Given the description of an element on the screen output the (x, y) to click on. 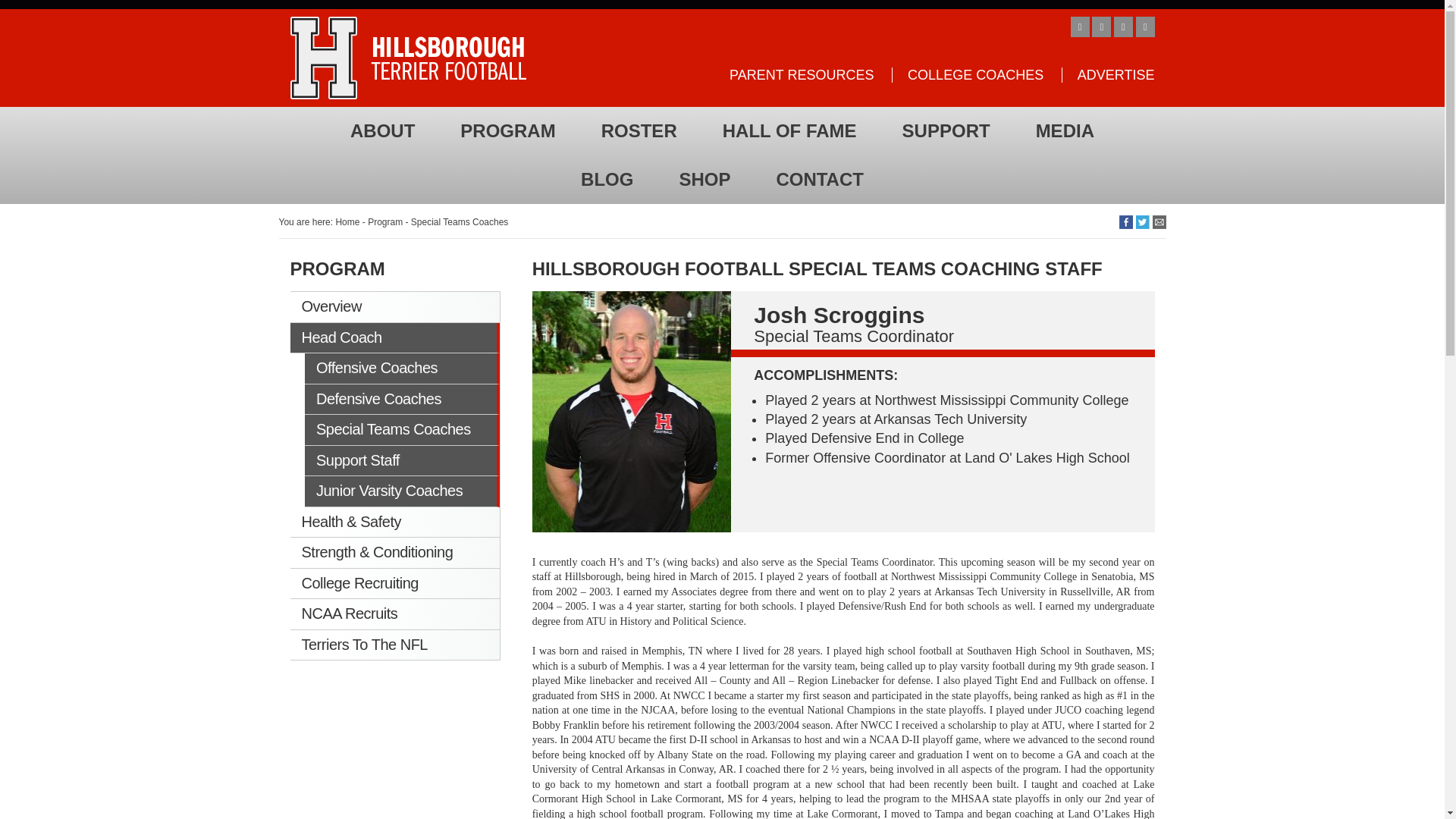
Overview (394, 306)
Offensive Coaches (401, 368)
You are here: Home (319, 222)
ABOUT (382, 131)
COLLEGE COACHES (967, 74)
PROGRAM (508, 131)
PARENT RESOURCES (801, 74)
Junior Varsity Coaches (401, 490)
Defensive Coaches (401, 399)
ADVERTISE (1107, 74)
